Given the description of an element on the screen output the (x, y) to click on. 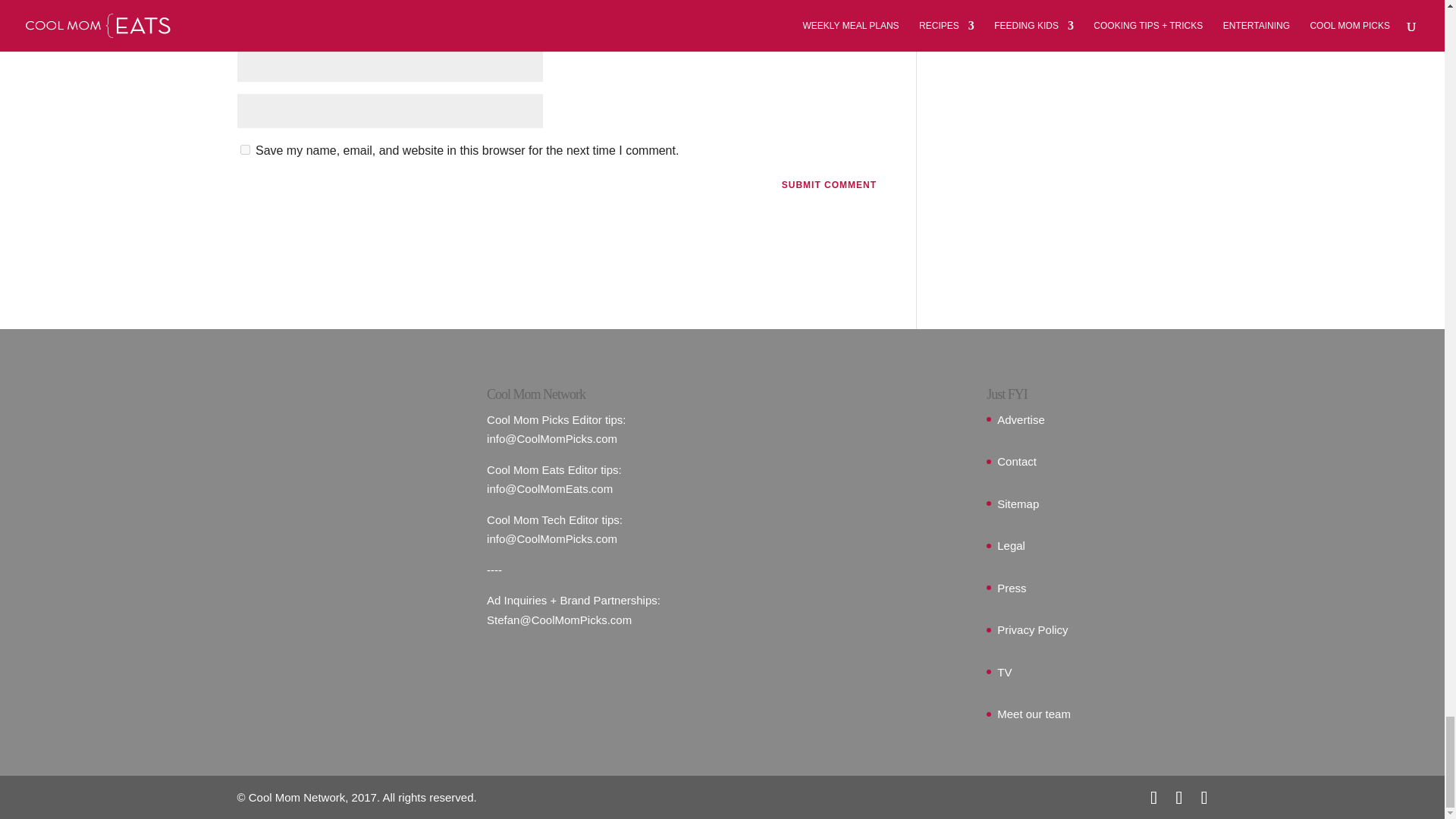
yes (244, 149)
Submit Comment (828, 184)
